Given the description of an element on the screen output the (x, y) to click on. 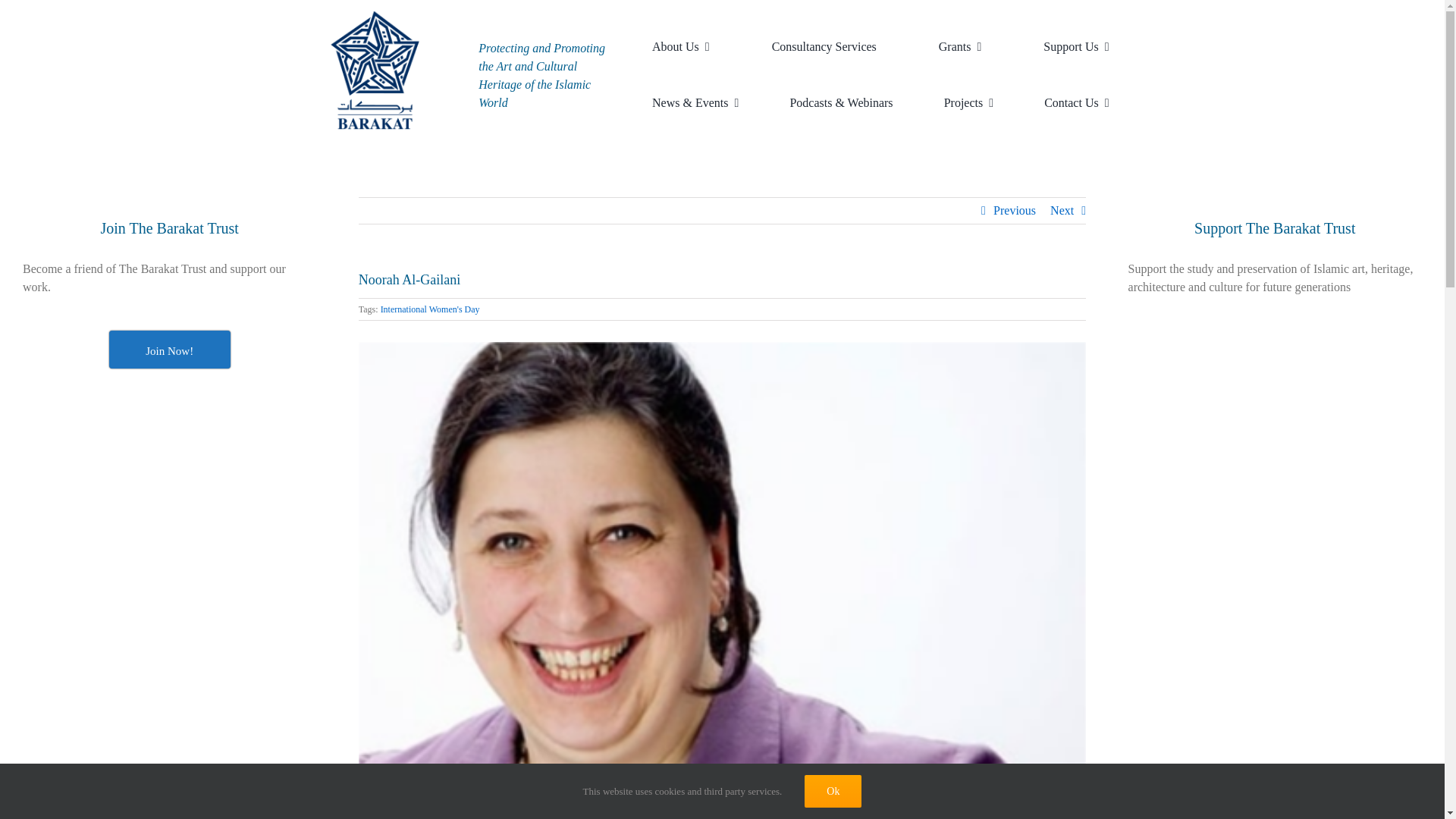
Support Us (1090, 28)
Consultancy Services (839, 28)
About Us (695, 28)
Untitled design-17 (374, 70)
Grants (975, 28)
